Given the description of an element on the screen output the (x, y) to click on. 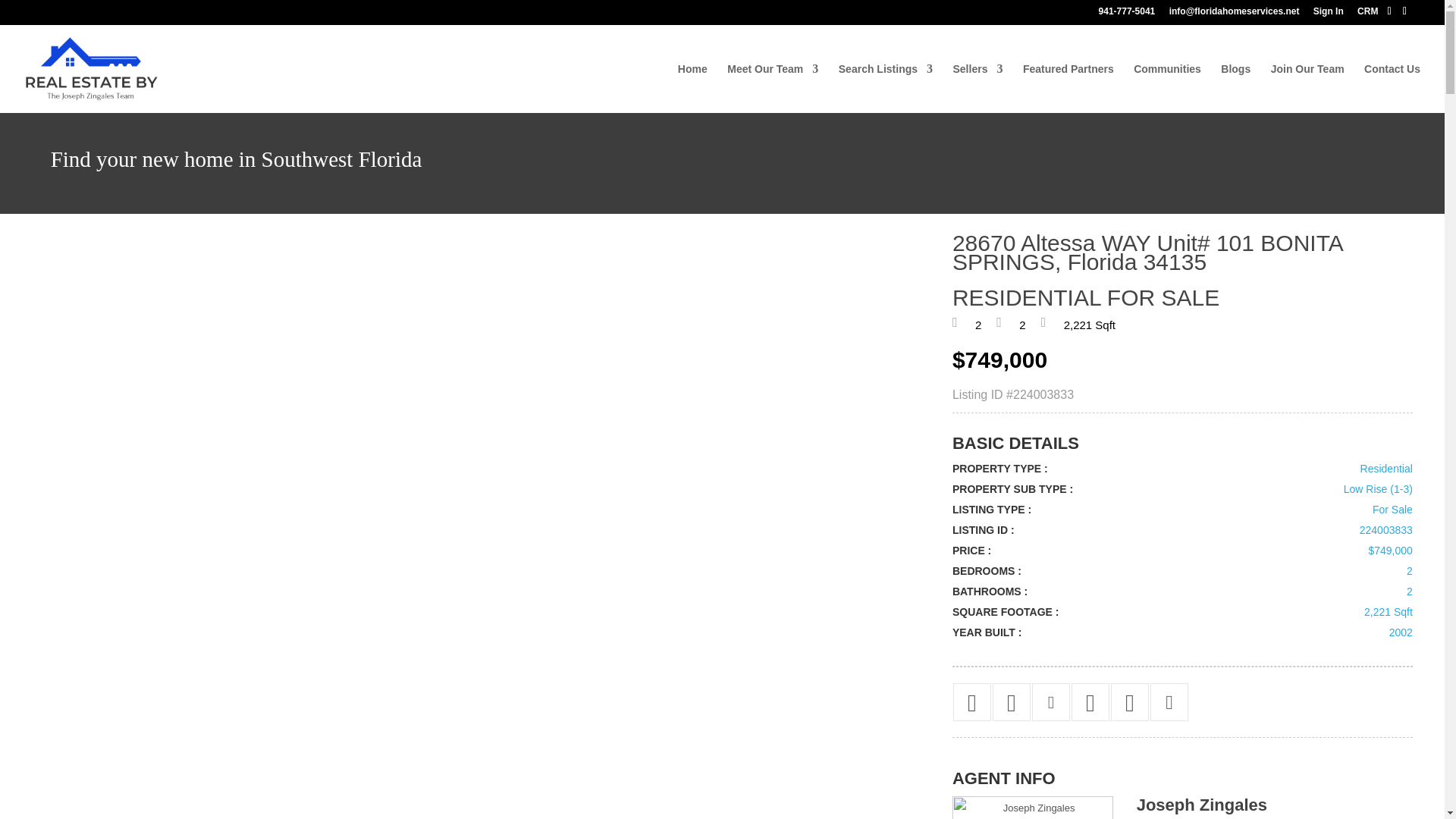
Featured Partners (1068, 88)
Sellers (977, 88)
CRM (1366, 14)
Search Listings (885, 88)
Join Our Team (1307, 88)
Sign In (1328, 14)
Meet Our Team (772, 88)
Communities (1167, 88)
941-777-5041 (1127, 14)
Contact Us (1392, 88)
